Given the description of an element on the screen output the (x, y) to click on. 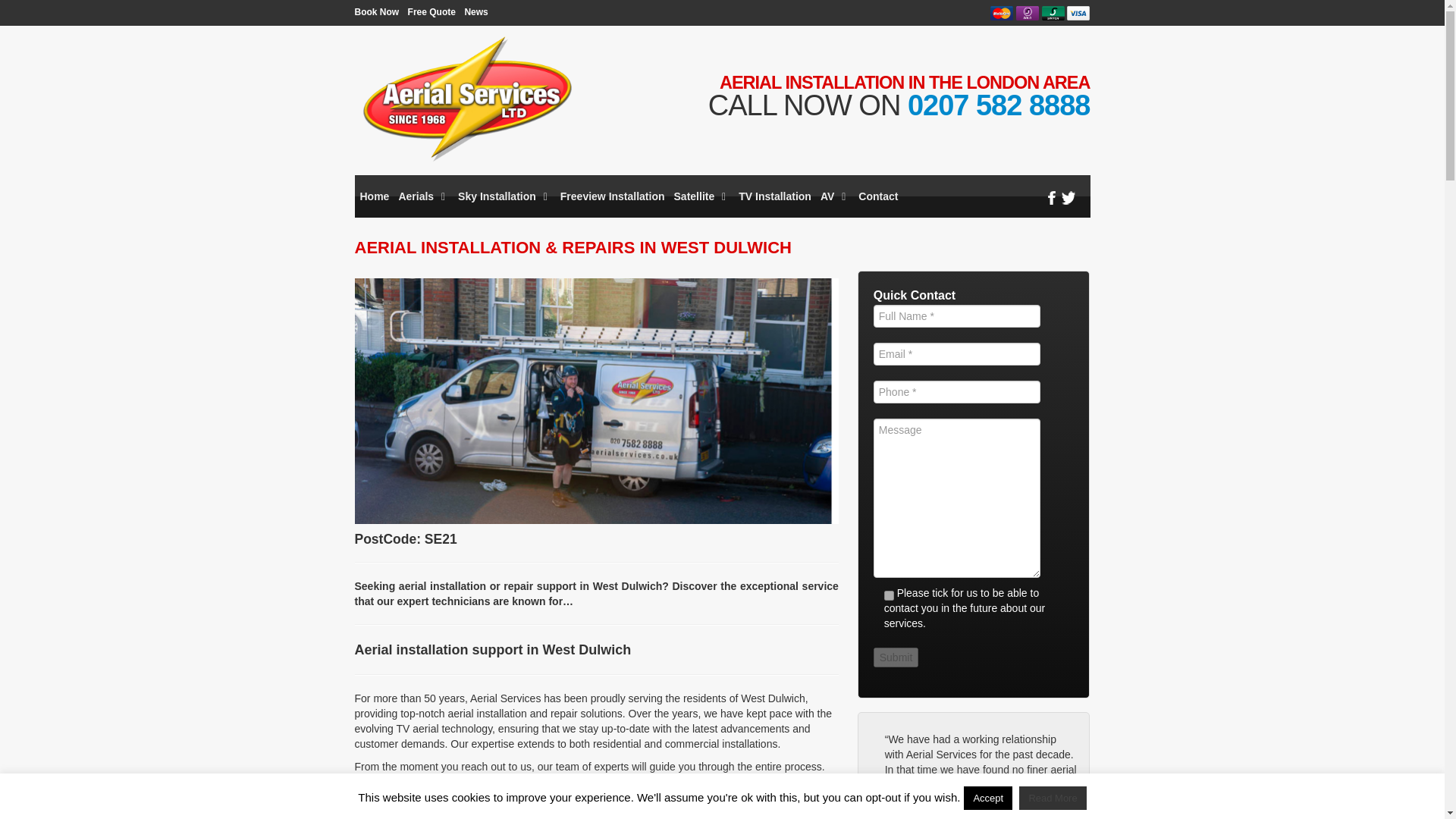
0207 582 8888 (998, 105)
Submit (895, 657)
Satellite (700, 196)
Book Now (376, 11)
Submit (895, 657)
AV (834, 196)
TV Installation (774, 196)
Freeview Installation (611, 196)
Contact (877, 196)
Aerials (422, 196)
Home (374, 196)
News (475, 11)
Sky Installation (503, 196)
Free Quote (431, 11)
